Given the description of an element on the screen output the (x, y) to click on. 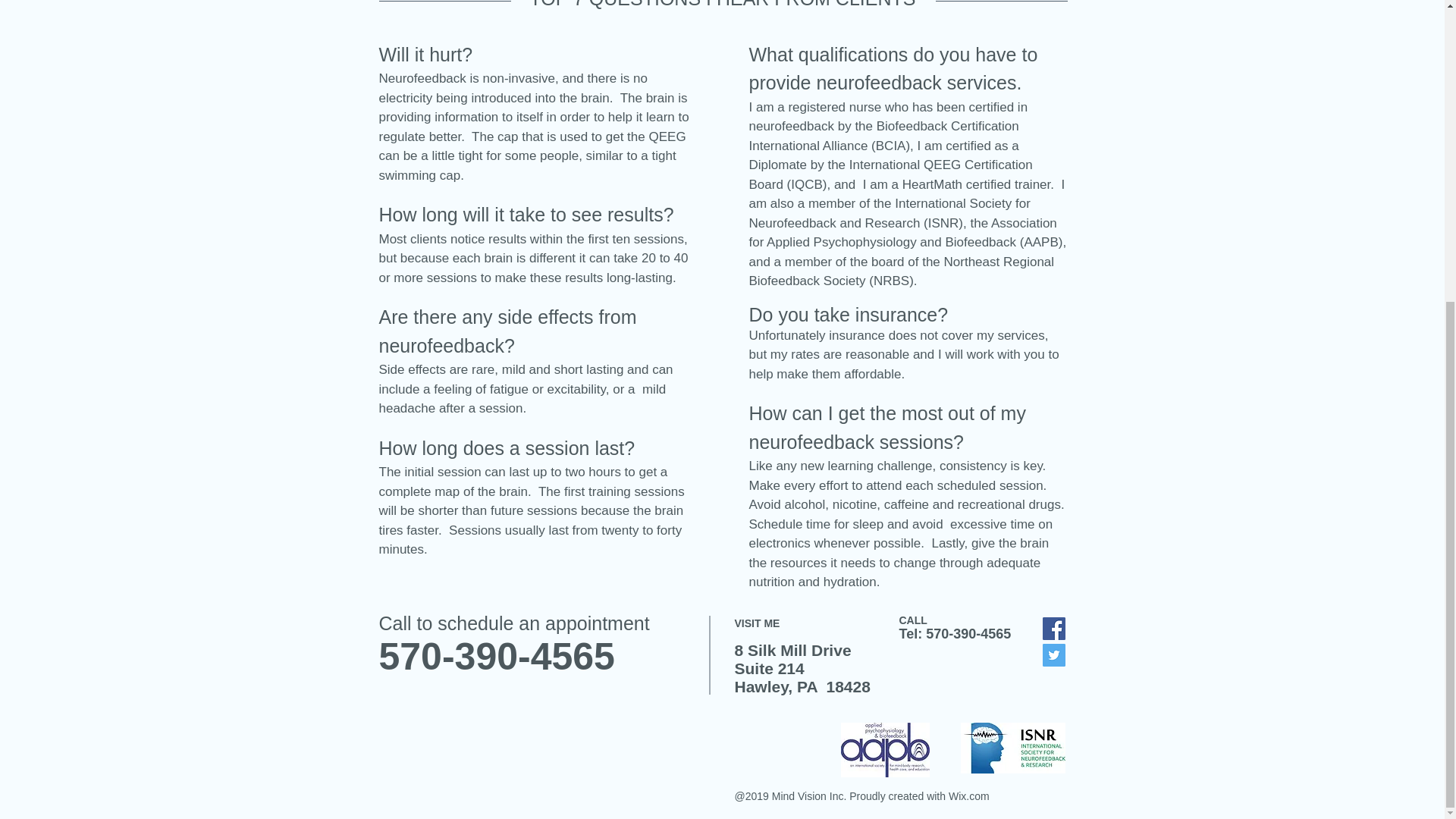
Wix.com (969, 796)
